Given the description of an element on the screen output the (x, y) to click on. 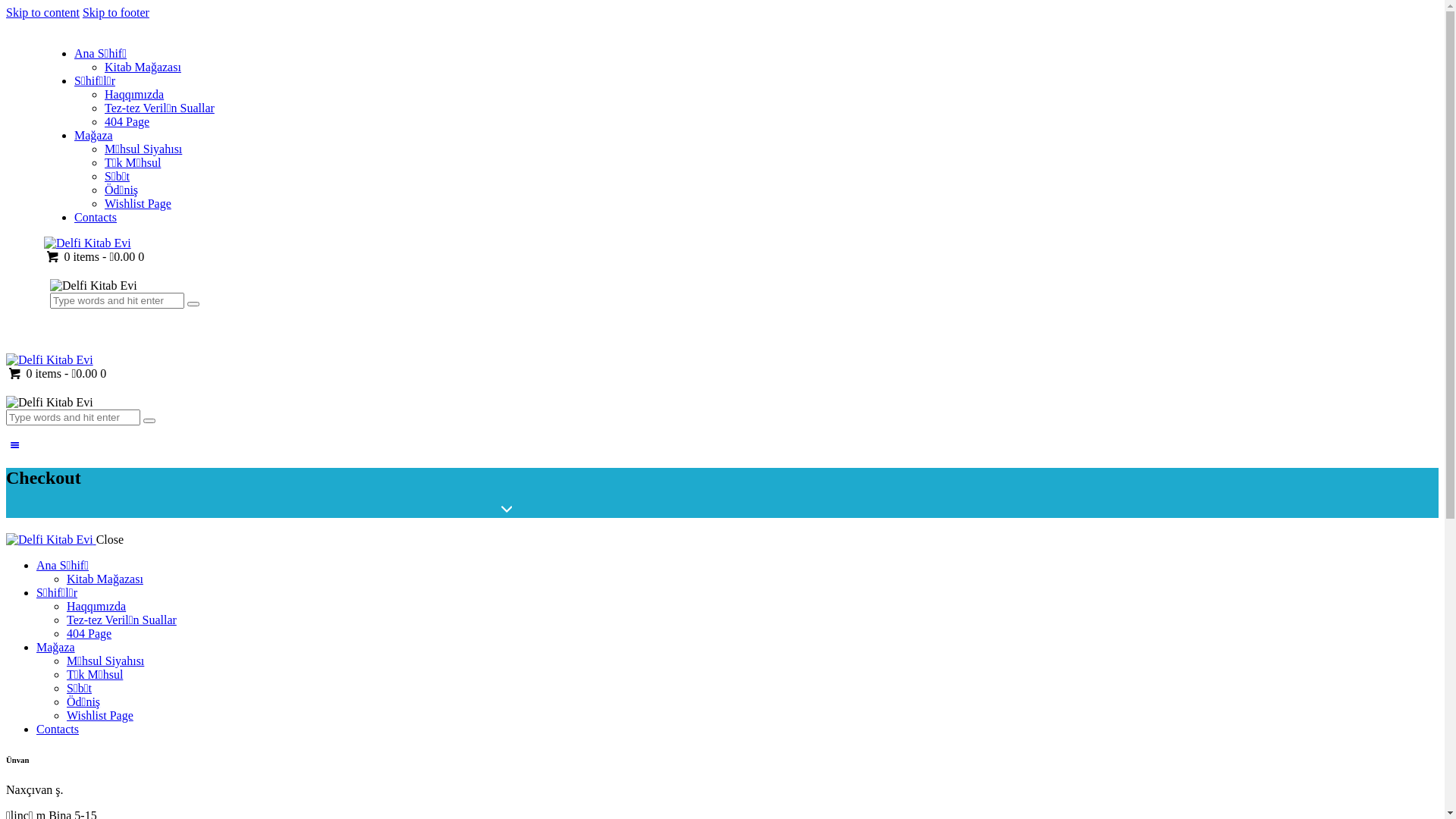
404 Page Element type: text (126, 121)
Wishlist Page Element type: text (137, 203)
Wishlist Page Element type: text (99, 715)
Contacts Element type: text (95, 216)
404 Page Element type: text (88, 633)
Skip to content Element type: text (42, 12)
Skip to footer Element type: text (115, 12)
Contacts Element type: text (57, 728)
Close Element type: text (109, 539)
